Given the description of an element on the screen output the (x, y) to click on. 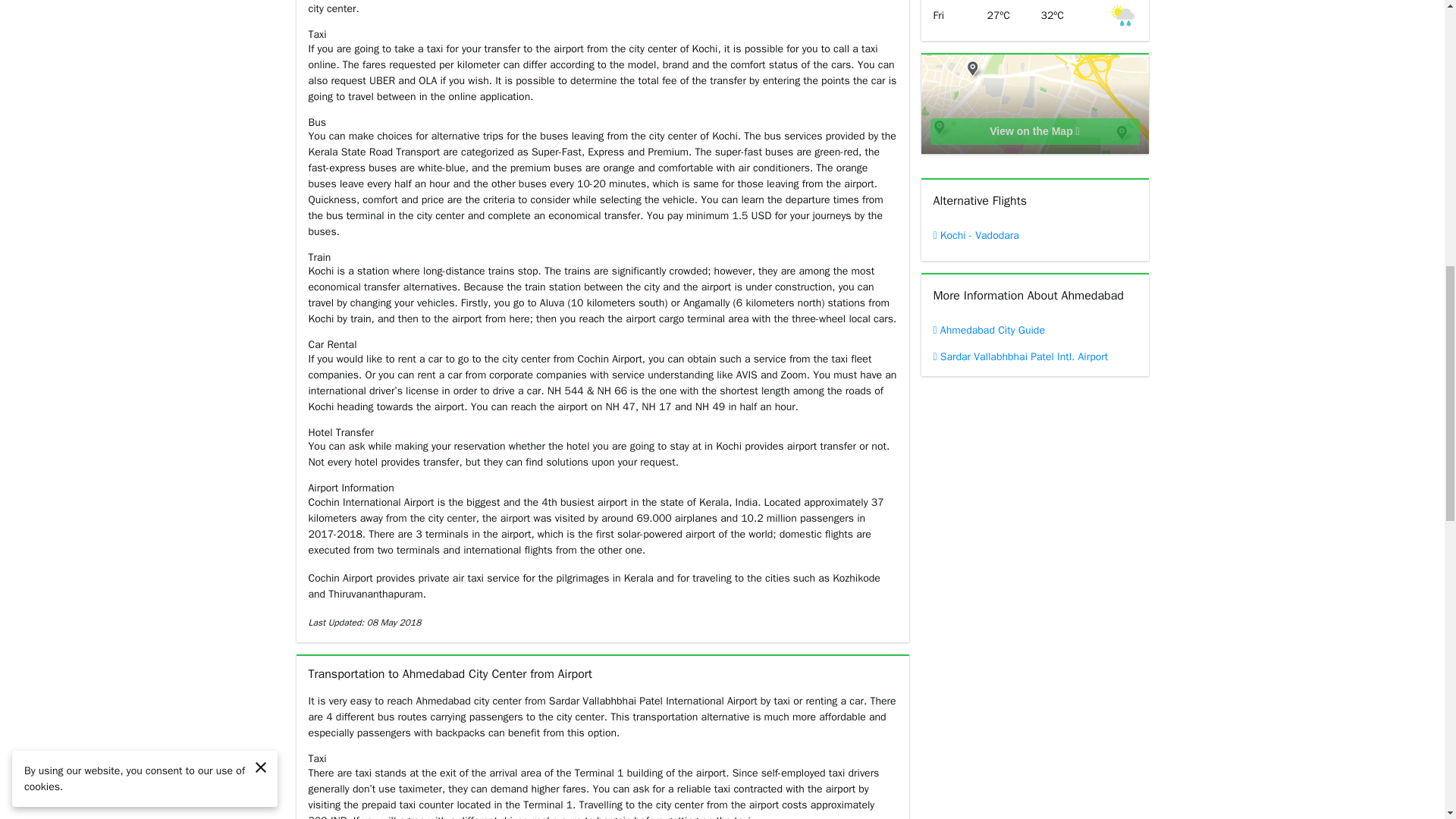
Kochi - Vadodara (1034, 234)
Ahmedabad City Guide (1034, 329)
Sardar Vallabhbhai Patel Intl. Airport (1034, 356)
